Given the description of an element on the screen output the (x, y) to click on. 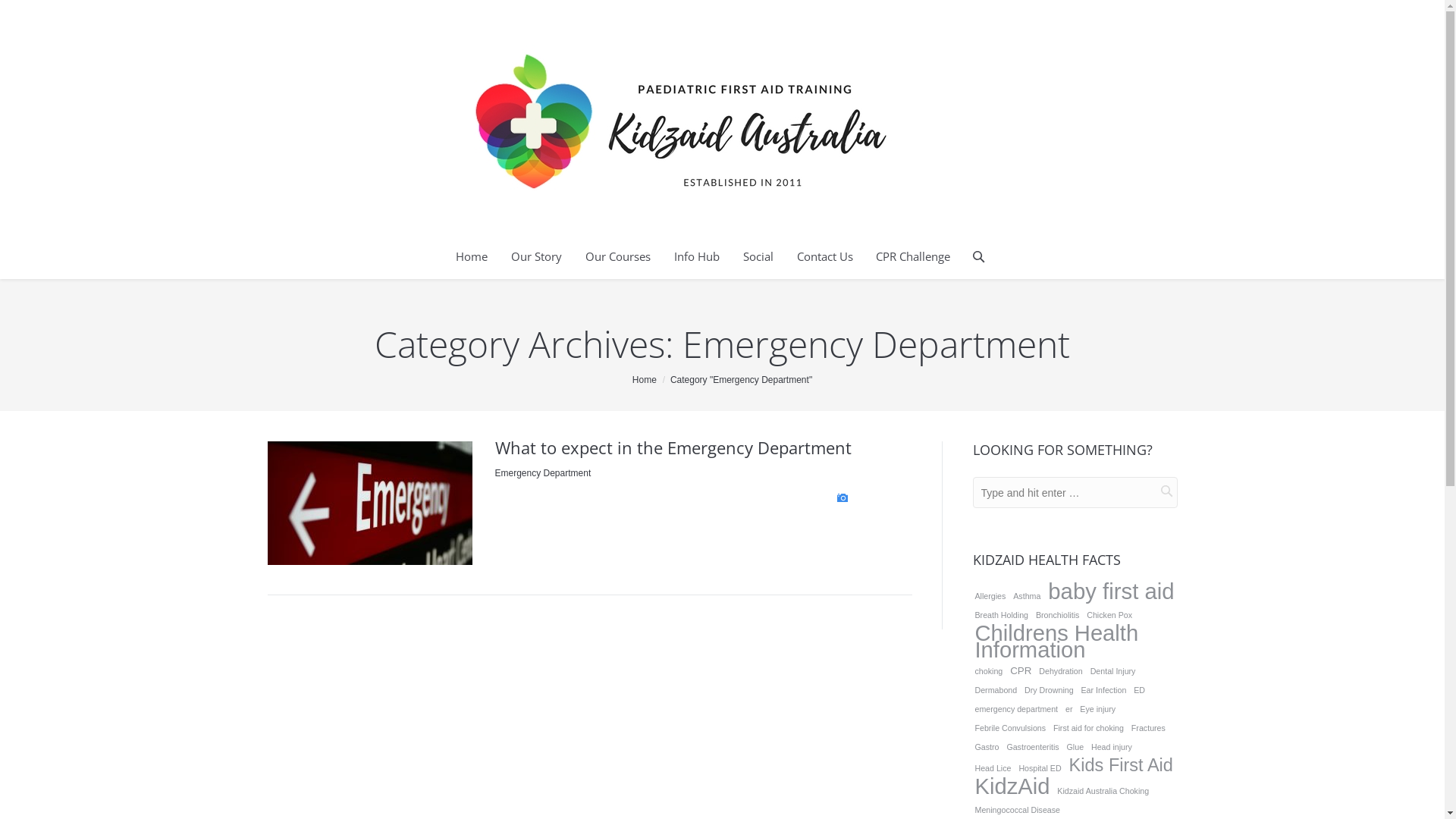
baby first aid Element type: text (1110, 591)
Dehydration Element type: text (1060, 670)
Ear Infection Element type: text (1104, 689)
Dry Drowning Element type: text (1049, 689)
ED Element type: text (1139, 689)
Head Lice Element type: text (992, 767)
CPR Challenge Element type: text (912, 256)
Home Element type: text (471, 256)
Our Courses Element type: text (617, 256)
Emergency Department Element type: text (542, 472)
Febrile Convulsions Element type: text (1010, 727)
Asthma Element type: text (1026, 595)
Kids First Aid Element type: text (1120, 764)
Social Element type: text (758, 256)
Glue Element type: text (1075, 746)
CPR Element type: text (1020, 670)
Meningococcal Disease Element type: text (1017, 809)
Dermabond Element type: text (995, 689)
Eye injury Element type: text (1097, 708)
Fractures Element type: text (1148, 727)
First aid for choking Element type: text (1088, 727)
Home Element type: text (644, 379)
Go! Element type: text (15, 11)
Our Story Element type: text (536, 256)
Info Hub Element type: text (696, 256)
emergency department Element type: text (1016, 708)
Contact Us Element type: text (824, 256)
What to expect in the Emergency Department Element type: text (672, 447)
Bronchiolitis Element type: text (1057, 614)
KidzAid Element type: text (1011, 786)
Breath Holding Element type: text (1001, 614)
Hospital ED Element type: text (1039, 767)
er Element type: text (1068, 708)
choking Element type: text (988, 670)
Dental Injury Element type: text (1113, 670)
Allergies Element type: text (989, 595)
Head injury Element type: text (1111, 746)
Gastro Element type: text (986, 746)
Go! Element type: text (1153, 490)
Gastroenteritis Element type: text (1032, 746)
Kidzaid Australia Choking Element type: text (1102, 790)
Chicken Pox Element type: text (1109, 614)
Childrens Health Information Element type: text (1074, 641)
